Given the description of an element on the screen output the (x, y) to click on. 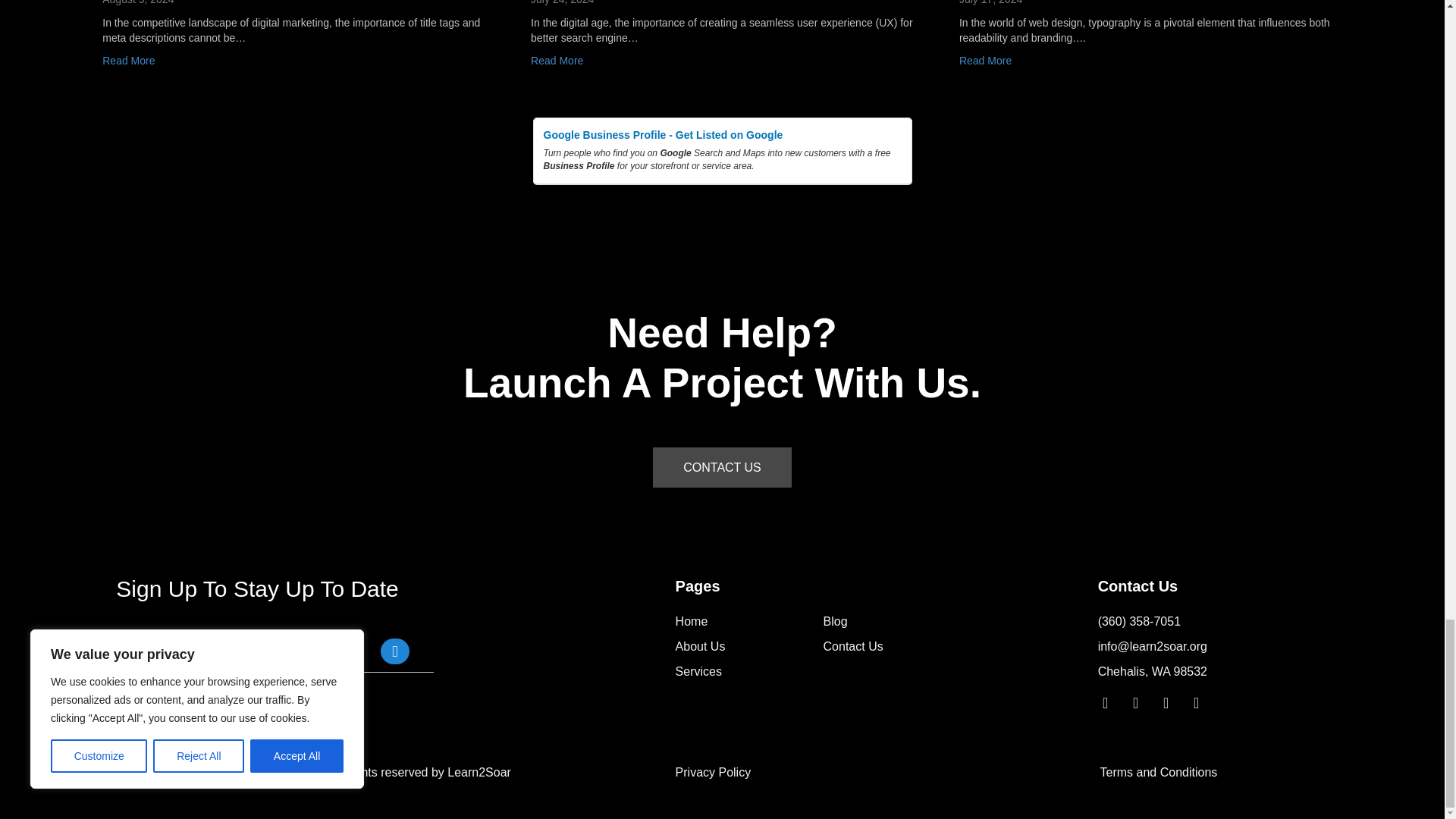
Read More (127, 60)
Click Here (394, 651)
Google Business Profile - Get Listed on Google (722, 135)
